Given the description of an element on the screen output the (x, y) to click on. 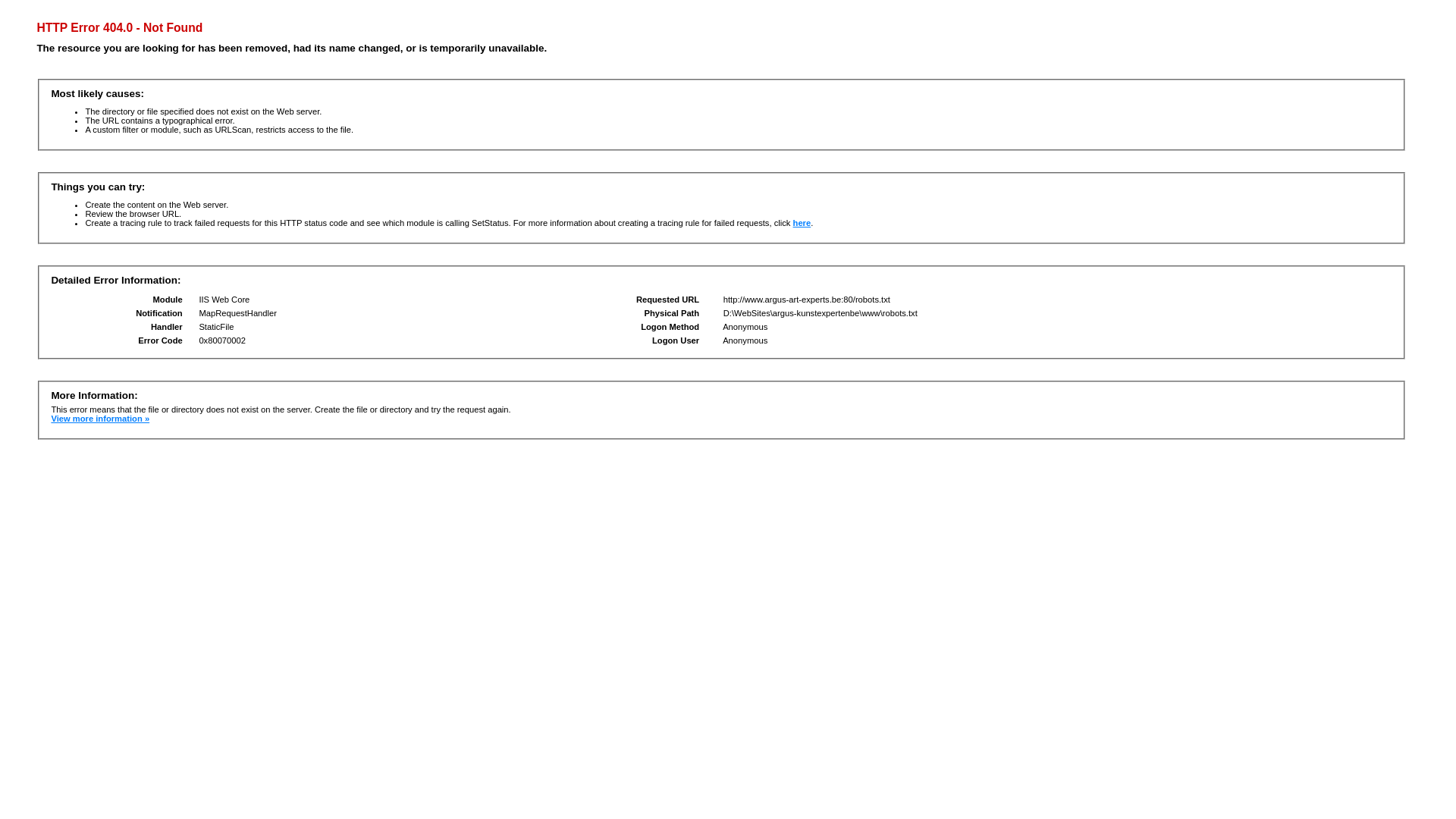
here Element type: text (802, 222)
